Given the description of an element on the screen output the (x, y) to click on. 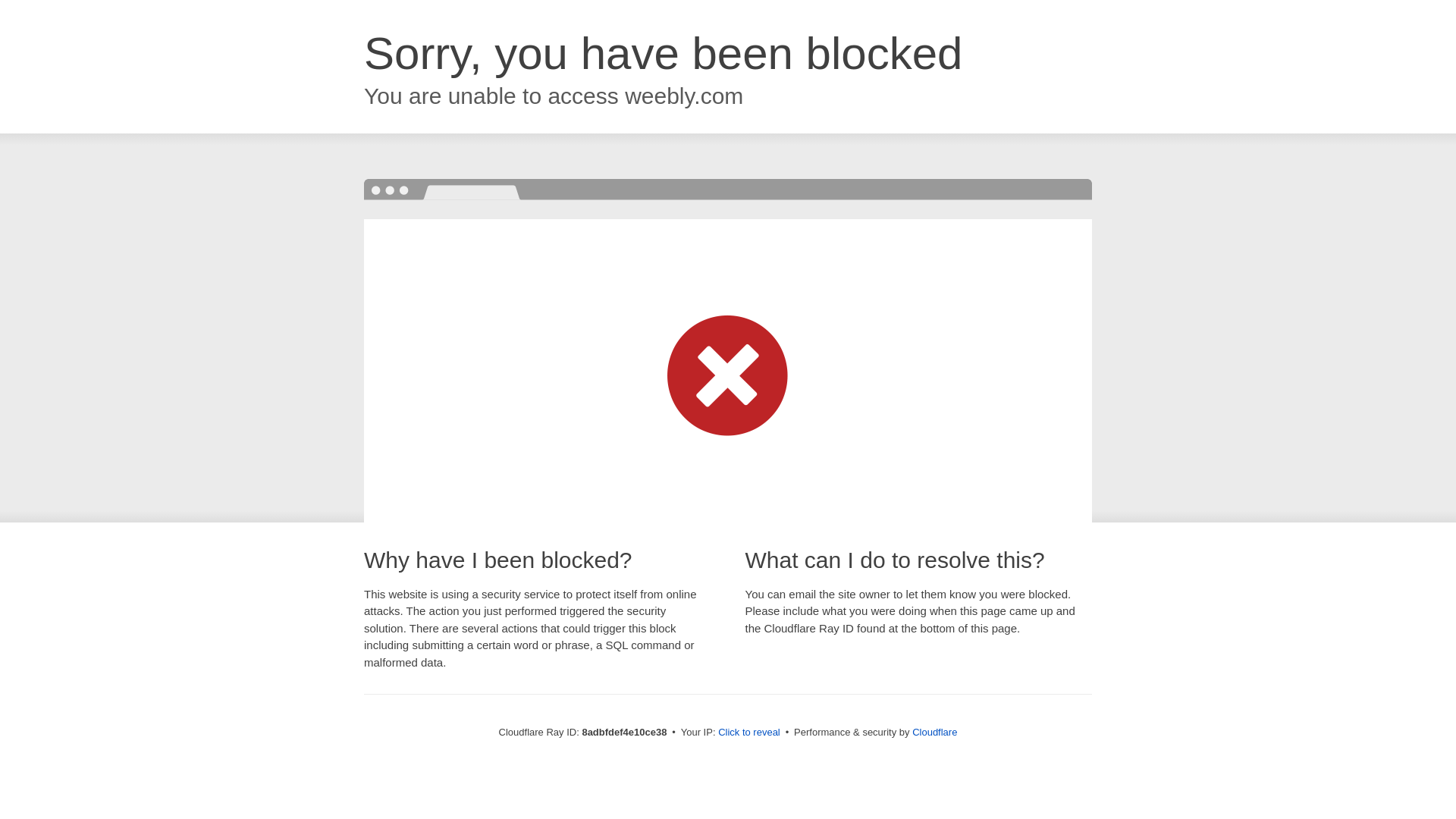
Cloudflare (934, 731)
Click to reveal (748, 732)
